Given the description of an element on the screen output the (x, y) to click on. 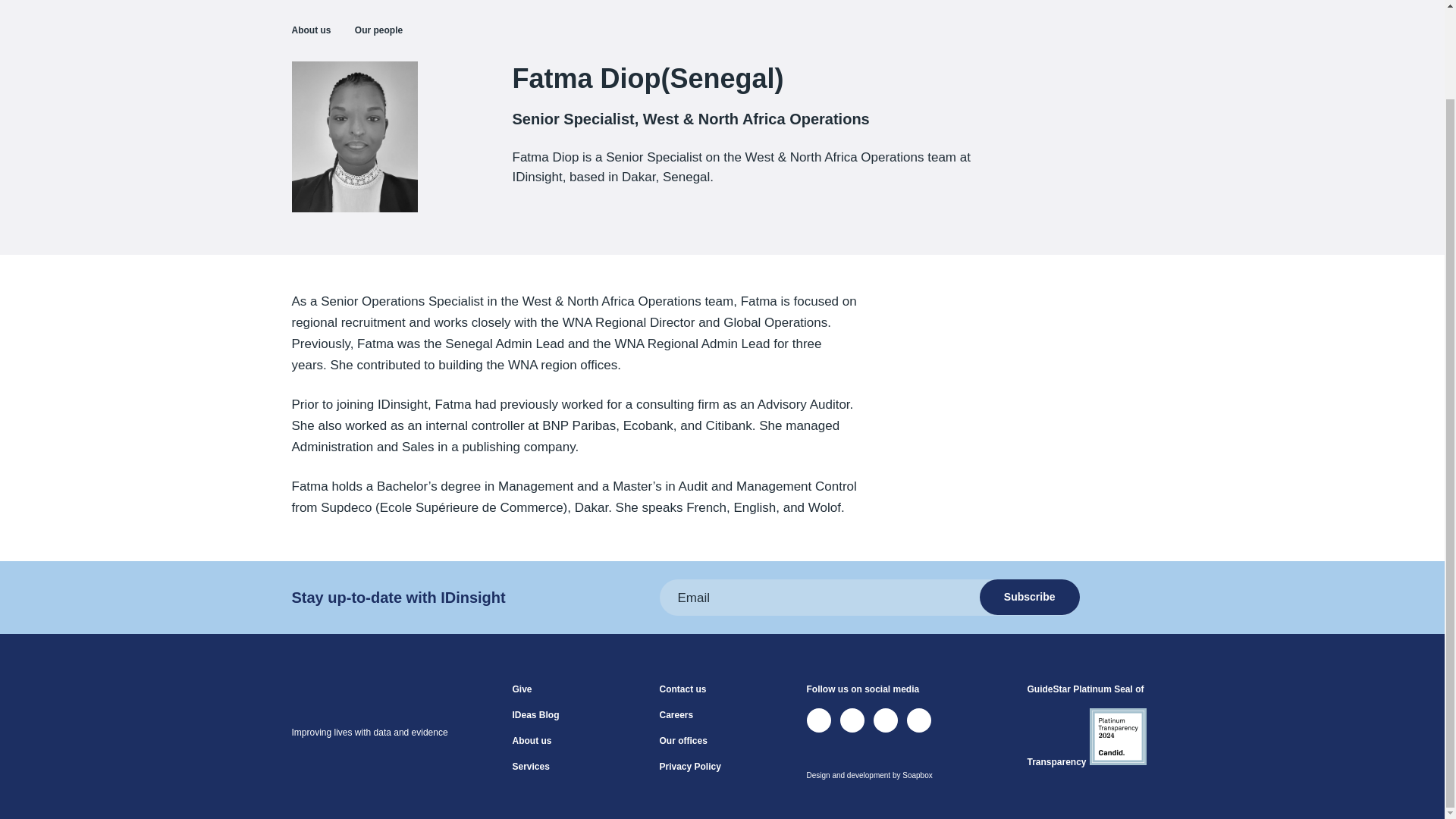
Facebook (885, 720)
Instagram (919, 720)
Subscribe (1029, 597)
Twitter (818, 720)
LinkedIn (852, 720)
Go to homepage (352, 707)
